Given the description of an element on the screen output the (x, y) to click on. 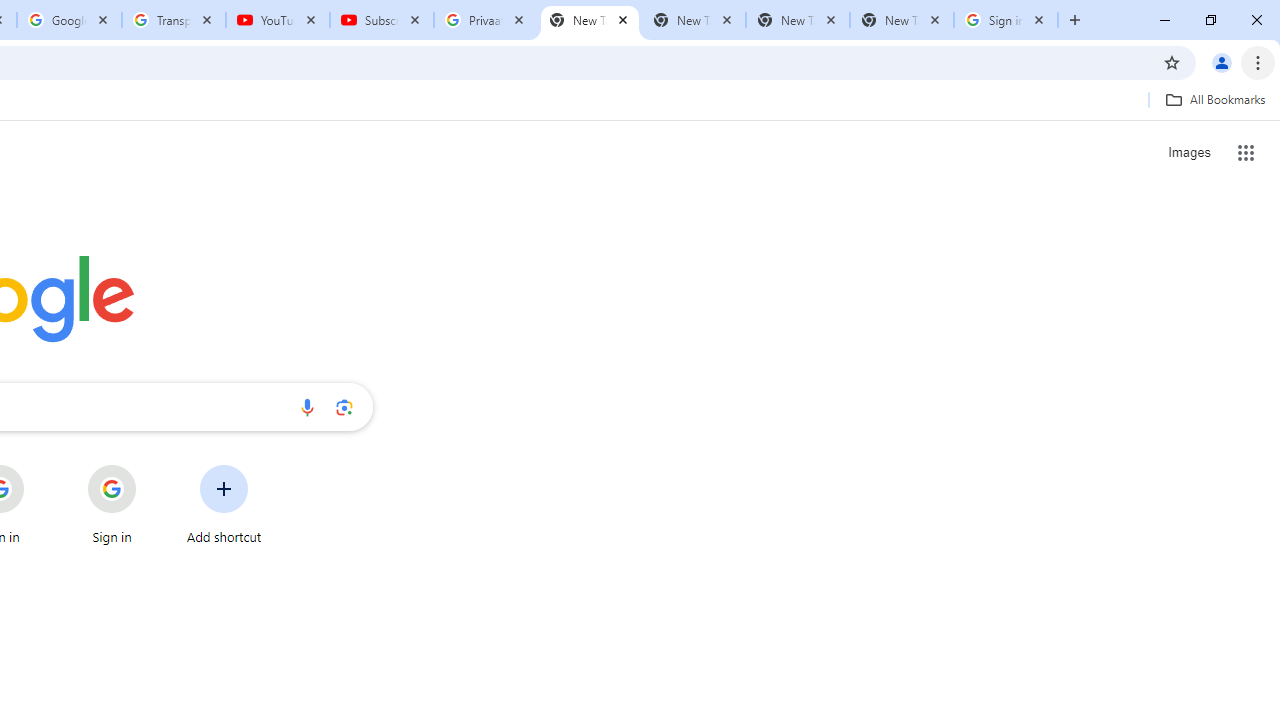
Google Account (68, 20)
Subscriptions - YouTube (381, 20)
Sign in - Google Accounts (1005, 20)
YouTube (278, 20)
New Tab (589, 20)
More actions for Sign in shortcut (152, 466)
